Given the description of an element on the screen output the (x, y) to click on. 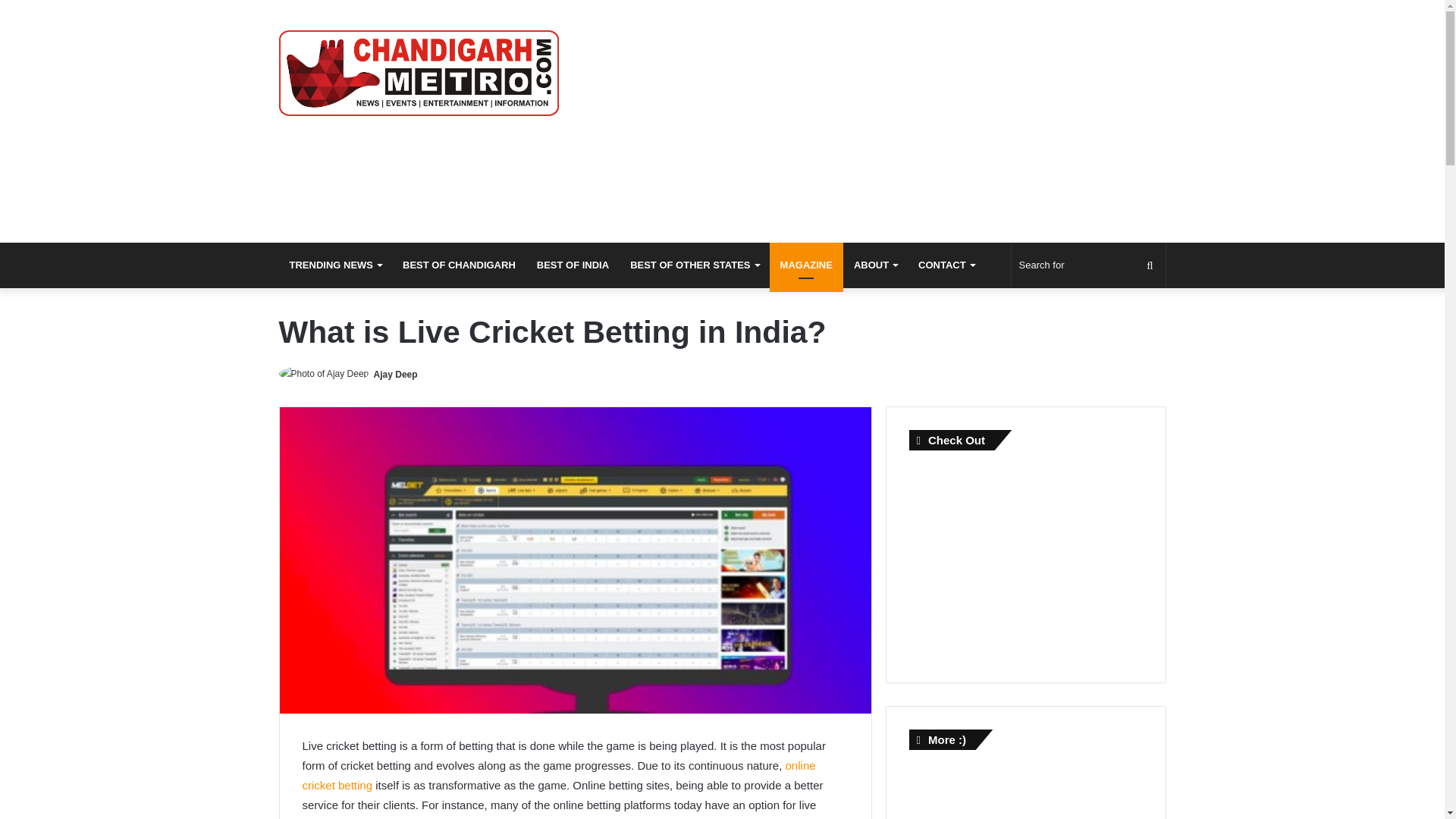
Chandigarh Metro (419, 73)
BEST OF OTHER STATES (694, 265)
BEST OF CHANDIGARH (458, 265)
ABOUT (875, 265)
online cricket betting (558, 775)
Ajay Deep (395, 374)
BEST OF INDIA (572, 265)
CONTACT (946, 265)
MAGAZINE (806, 265)
TRENDING NEWS (336, 265)
Ajay Deep (395, 374)
Search for (1088, 265)
